Given the description of an element on the screen output the (x, y) to click on. 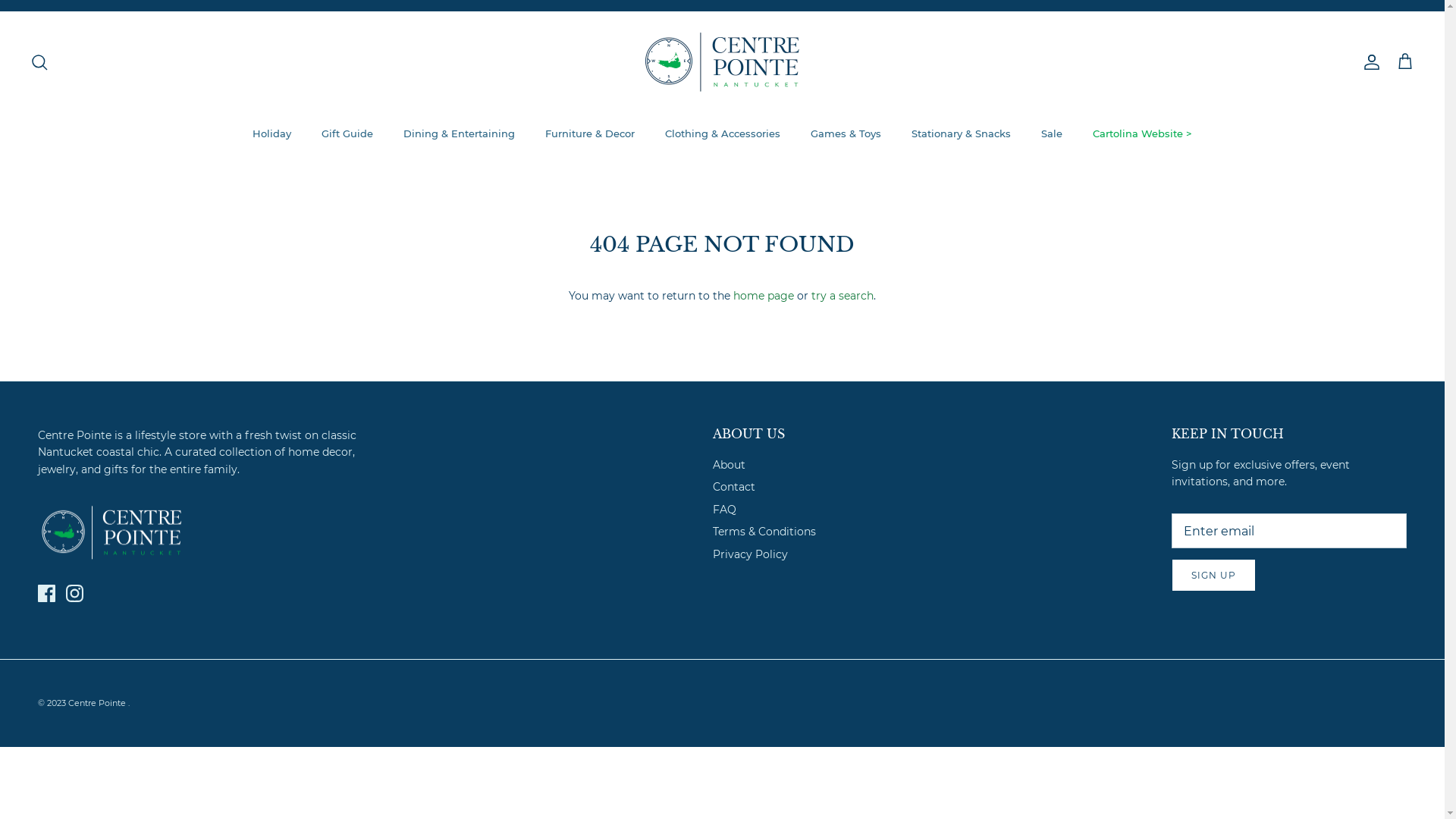
Contact Element type: text (733, 486)
Furniture & Decor Element type: text (589, 133)
Instagram Element type: text (74, 593)
Clothing & Accessories Element type: text (722, 133)
Sale Element type: text (1051, 133)
SIGN UP Element type: text (1213, 574)
Holiday Element type: text (271, 133)
try a search Element type: text (842, 295)
About Element type: text (728, 464)
home page Element type: text (763, 295)
Games & Toys Element type: text (845, 133)
Stationary & Snacks Element type: text (960, 133)
Terms & Conditions Element type: text (763, 531)
Centre Pointe  Element type: hover (721, 61)
Search Element type: text (39, 62)
Centre Pointe Element type: text (98, 702)
Cart Element type: text (1405, 62)
Privacy Policy Element type: text (749, 554)
Account Element type: text (1368, 62)
Dining & Entertaining Element type: text (458, 133)
Cartolina Website > Element type: text (1142, 133)
FAQ Element type: text (724, 509)
Gift Guide Element type: text (346, 133)
Facebook Element type: text (46, 593)
